Given the description of an element on the screen output the (x, y) to click on. 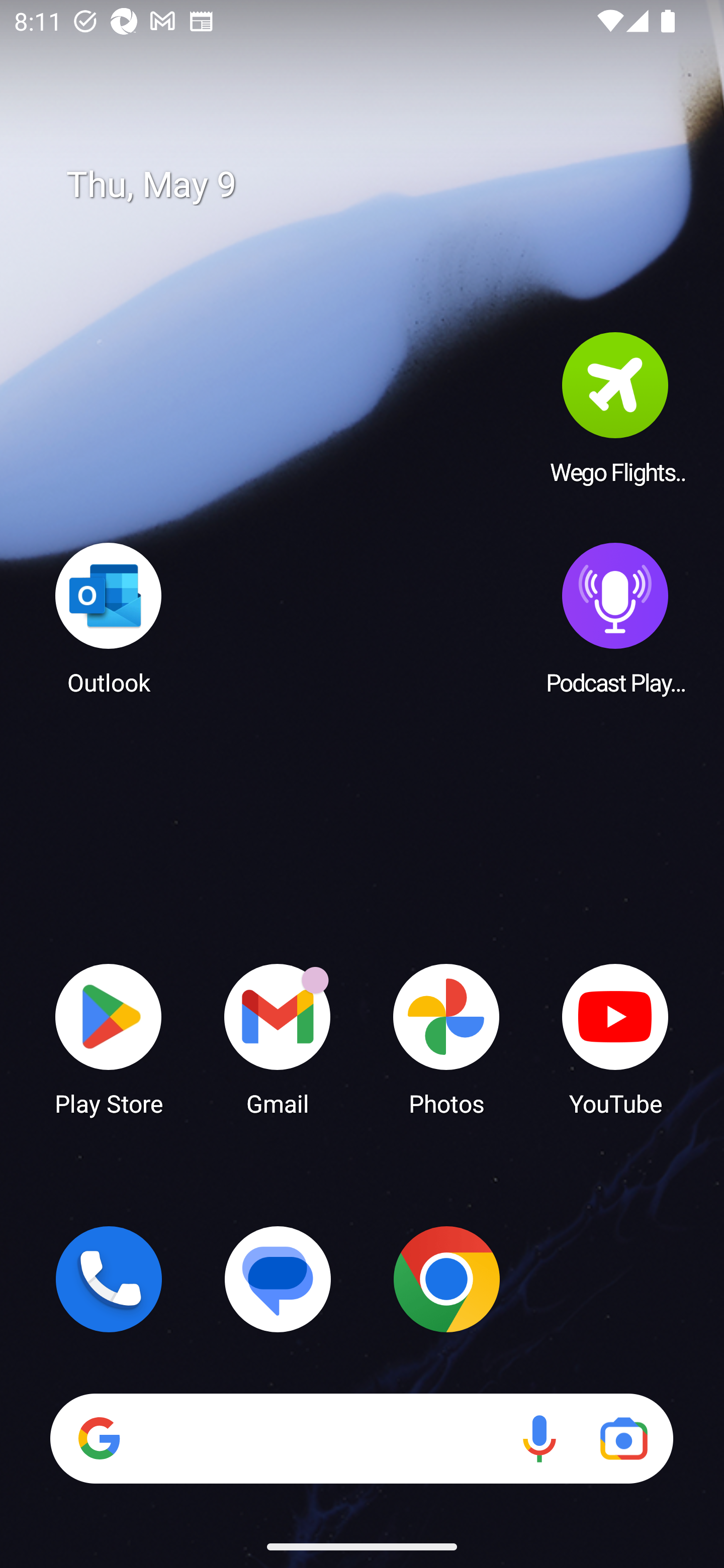
Thu, May 9 (375, 184)
Wego Flights & Hotels (615, 407)
Outlook (108, 617)
Podcast Player (615, 617)
Play Store (108, 1038)
Gmail Gmail has 18 notifications (277, 1038)
Photos (445, 1038)
YouTube (615, 1038)
Phone (108, 1279)
Messages (277, 1279)
Chrome (446, 1279)
Search Voice search Google Lens (361, 1438)
Voice search (539, 1438)
Google Lens (623, 1438)
